Given the description of an element on the screen output the (x, y) to click on. 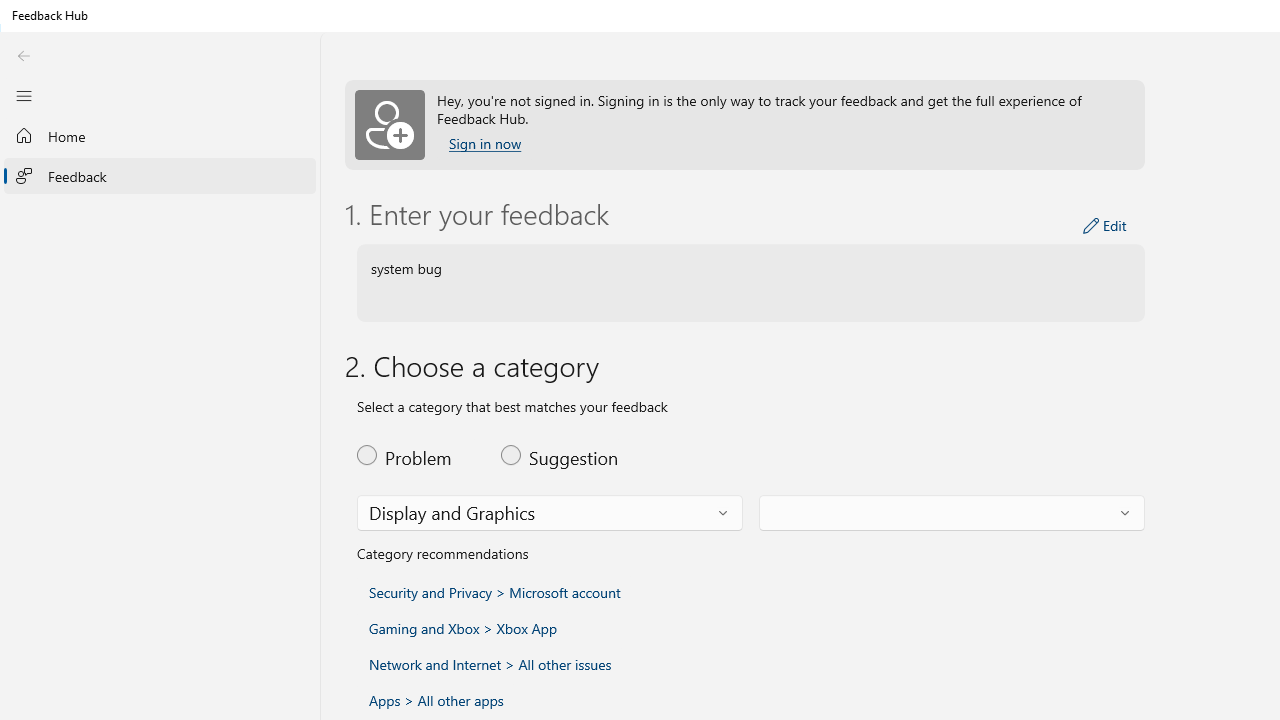
Display and Graphics (452, 511)
Close Navigation (23, 95)
Feedback type, Problem (417, 454)
Feedback category (550, 512)
Feedback (159, 175)
Feedback type, Suggestion (560, 454)
Feedback subcategory (952, 512)
Sign in now (484, 143)
Edit your feedback details (1105, 225)
Select this category and subcategory: Apps > All other apps (436, 699)
